Given the description of an element on the screen output the (x, y) to click on. 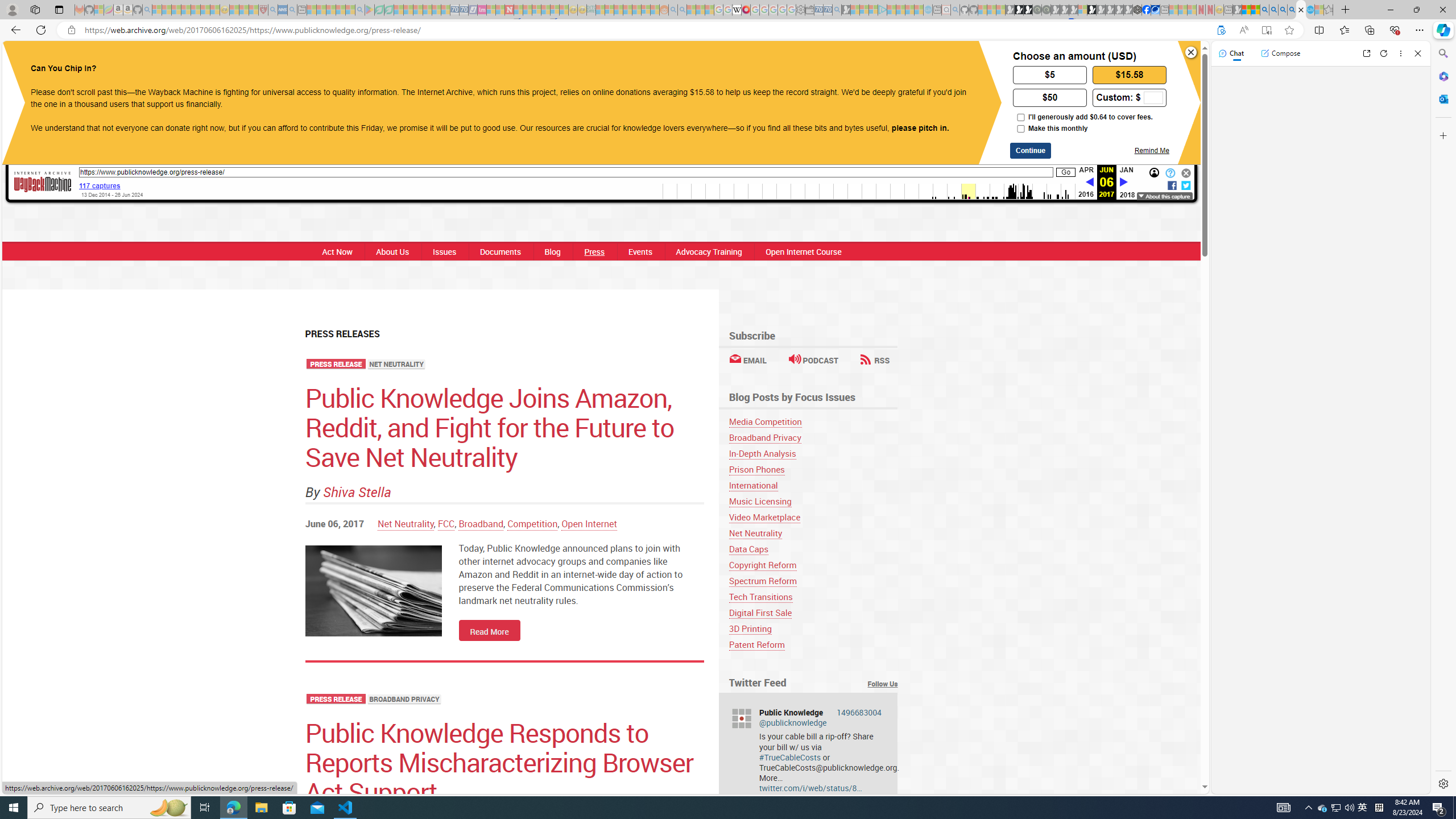
Media Competition (765, 421)
3D Printing (813, 628)
In-Depth Analysis (813, 453)
AutomationID: wmtbURL (566, 172)
Video Marketplace (764, 517)
International (813, 485)
Music Licensing (760, 500)
